Given the description of an element on the screen output the (x, y) to click on. 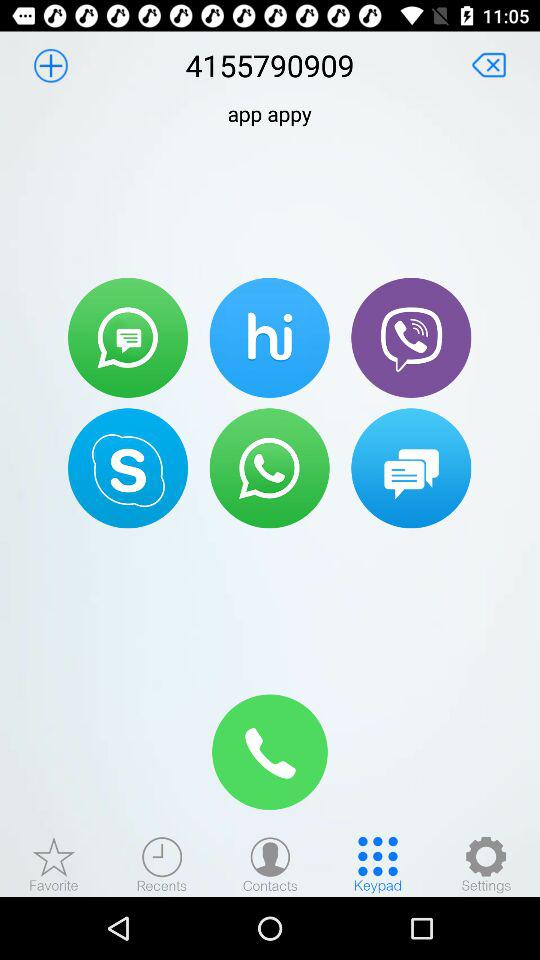
call (270, 751)
